Given the description of an element on the screen output the (x, y) to click on. 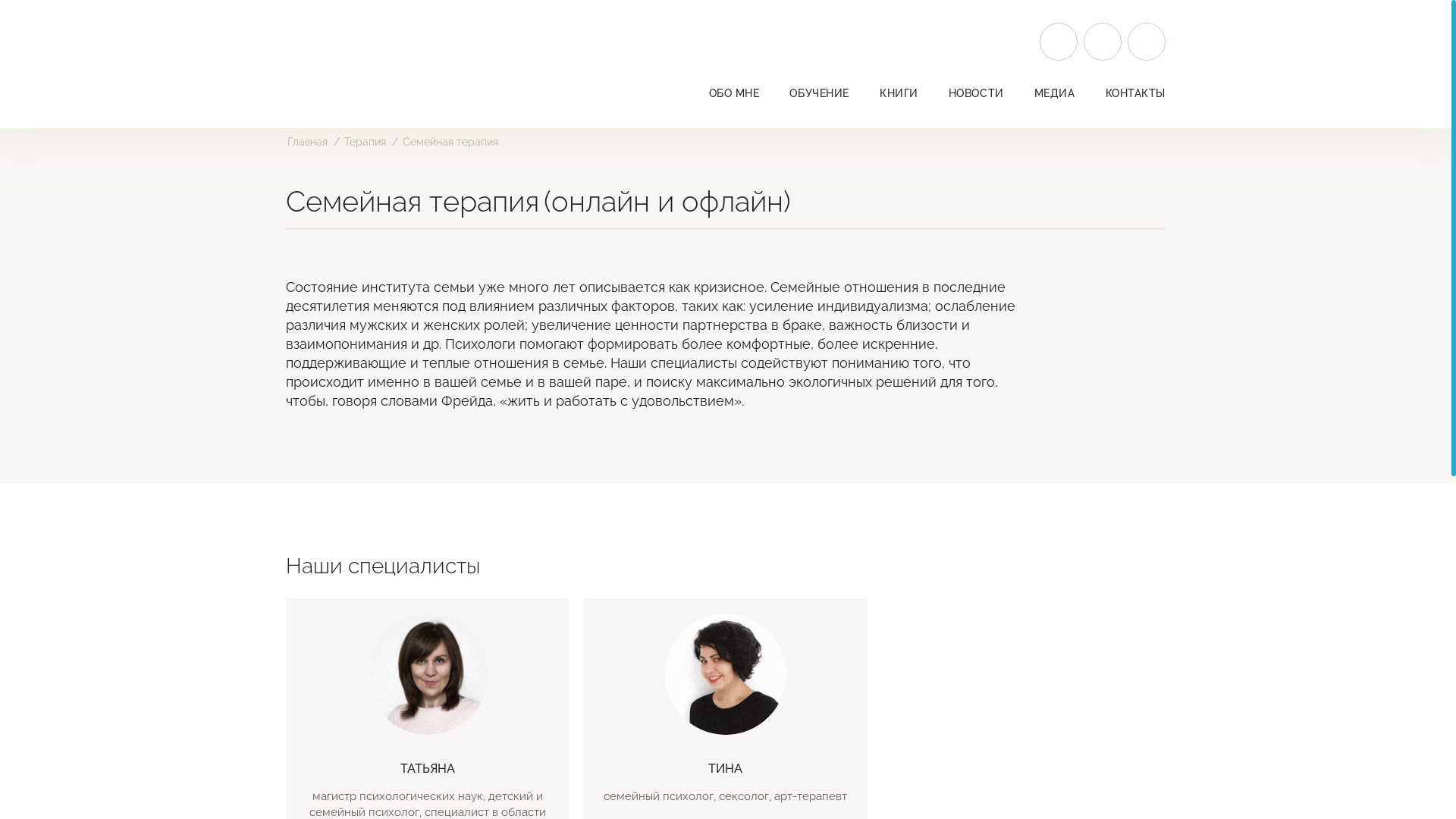
Instagram Element type: text (1058, 41)
Facebook Element type: text (1102, 41)
